Given the description of an element on the screen output the (x, y) to click on. 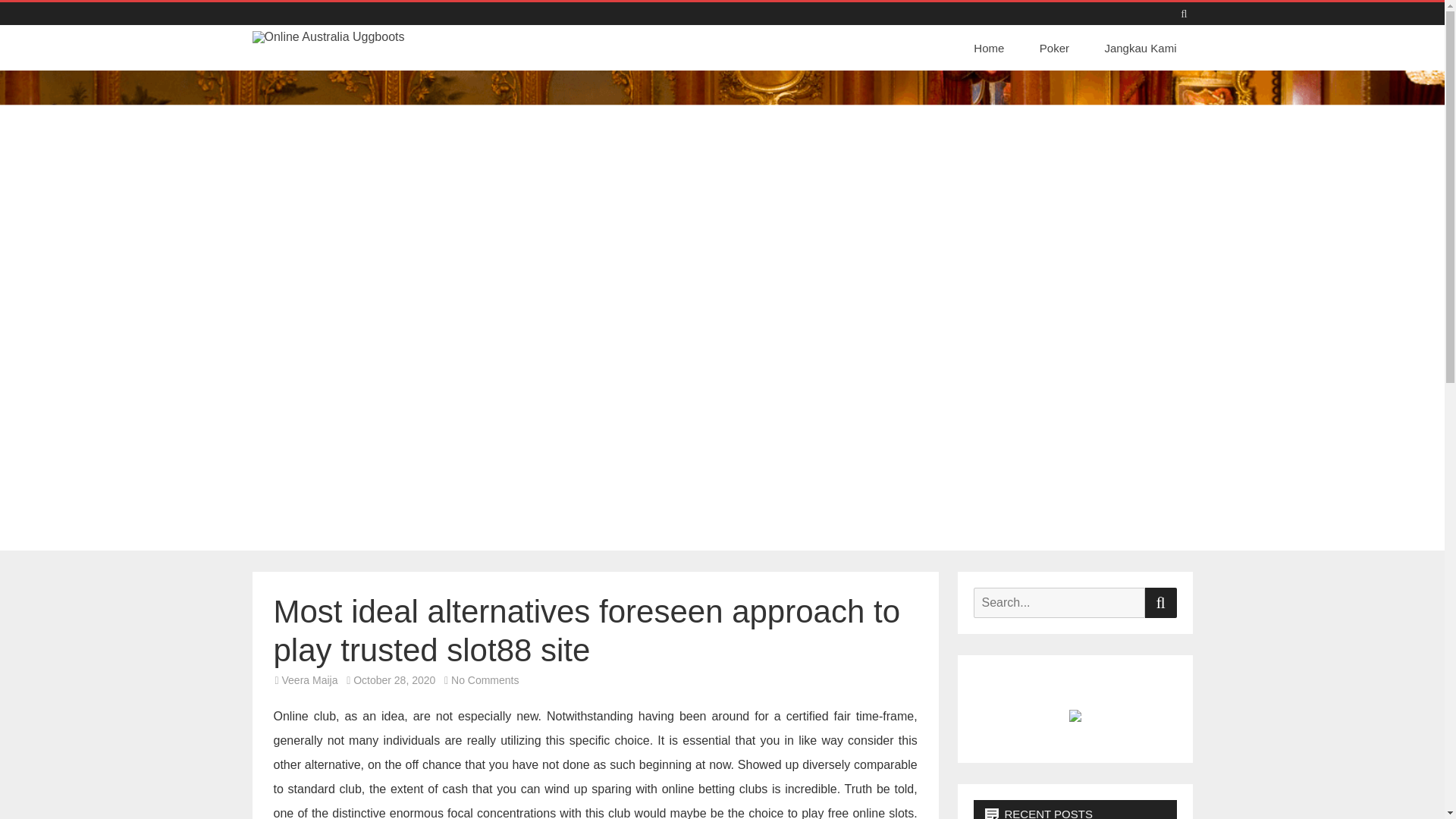
Poker (1053, 48)
Jangkau Kami (1139, 48)
Home (994, 48)
Search (1160, 603)
Online Australia Uggboots (370, 52)
Online Australia Uggboots (370, 52)
Veera Maija (309, 680)
Search for: (1059, 603)
